Given the description of an element on the screen output the (x, y) to click on. 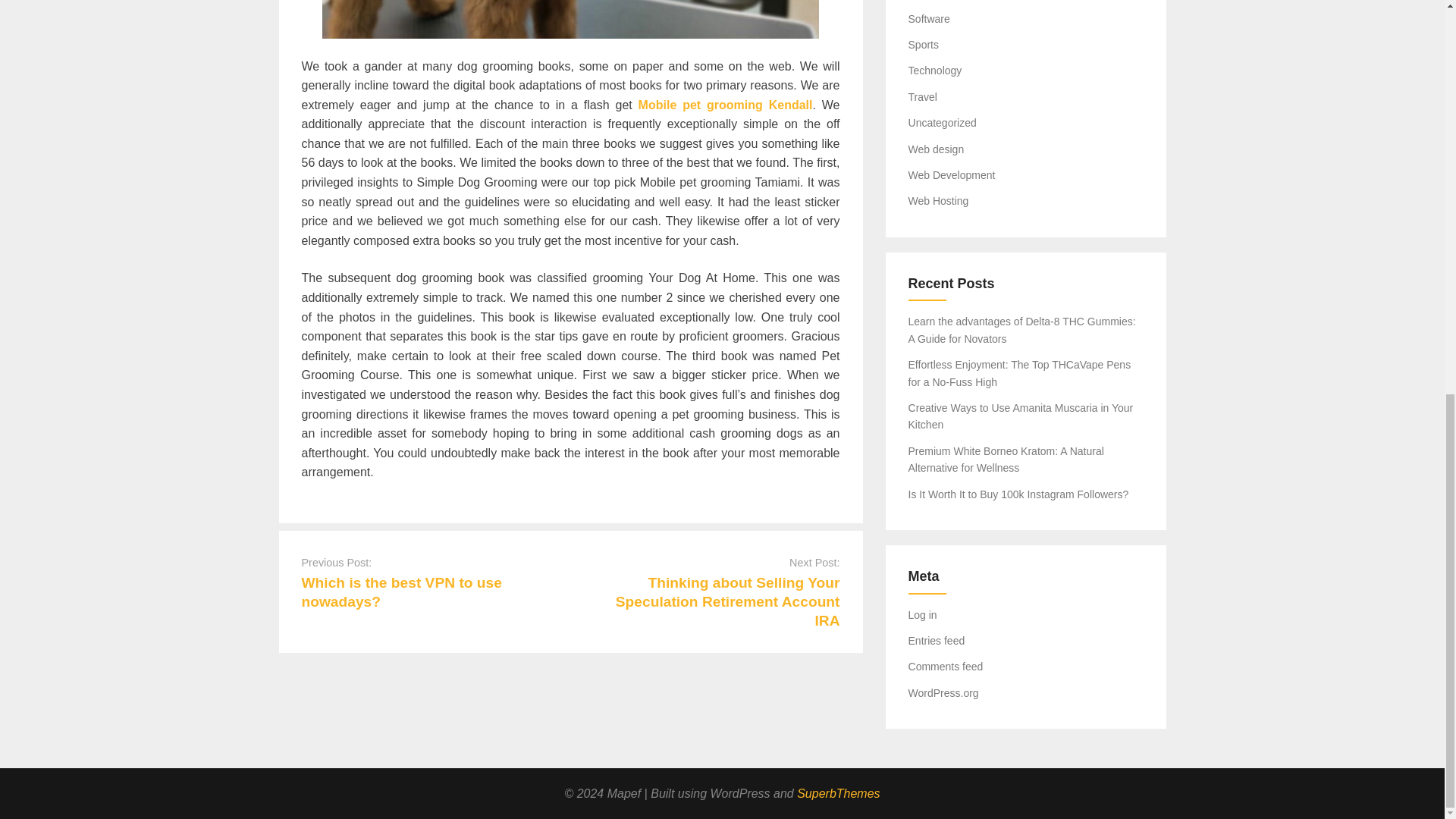
Mobile pet grooming Kendall (725, 104)
Sports (923, 44)
Technology (935, 70)
Which is the best VPN to use nowadays? (401, 591)
Uncategorized (942, 122)
Travel (922, 96)
Software (929, 19)
